Given the description of an element on the screen output the (x, y) to click on. 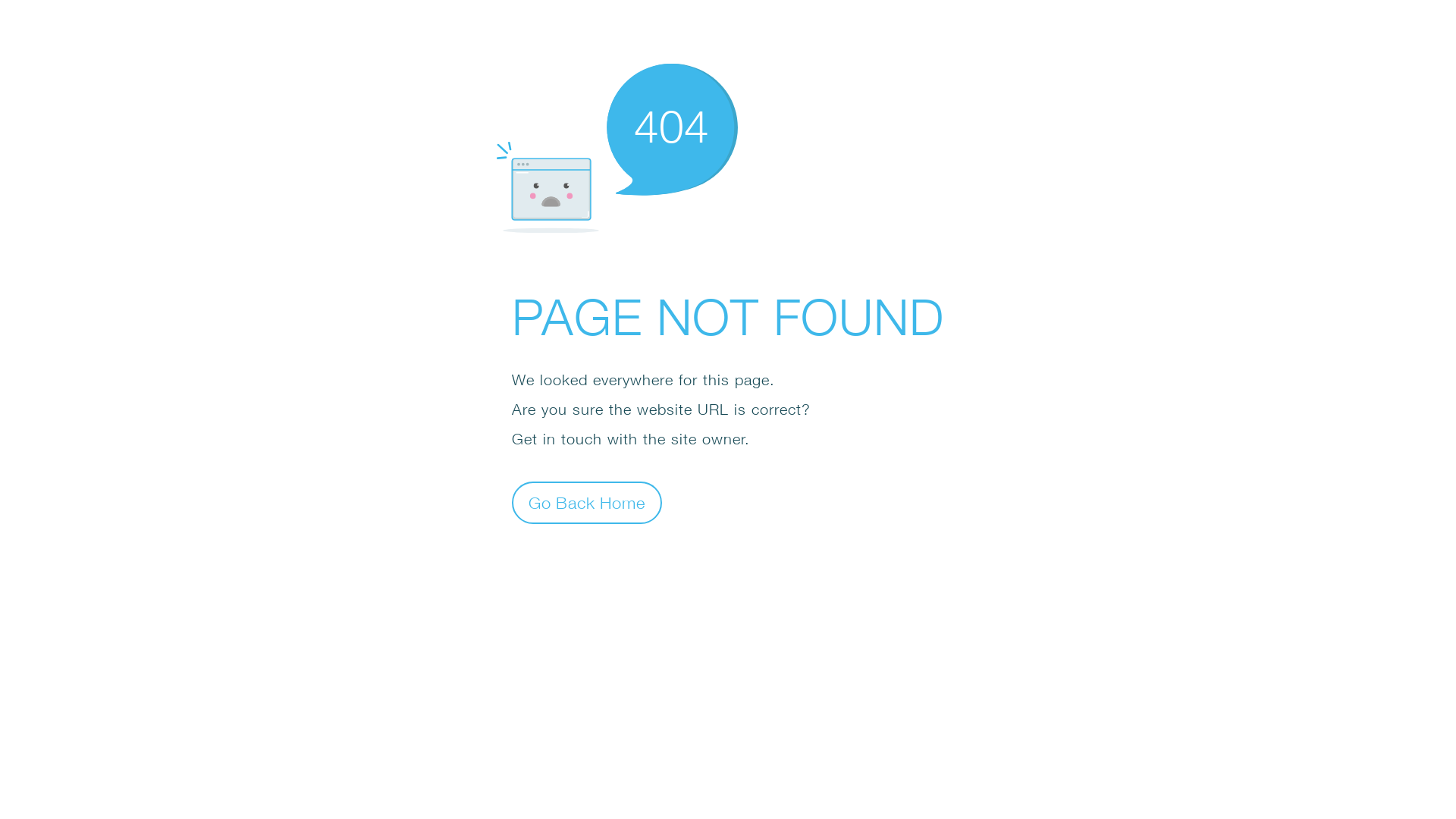
Go Back Home Element type: text (586, 502)
